Given the description of an element on the screen output the (x, y) to click on. 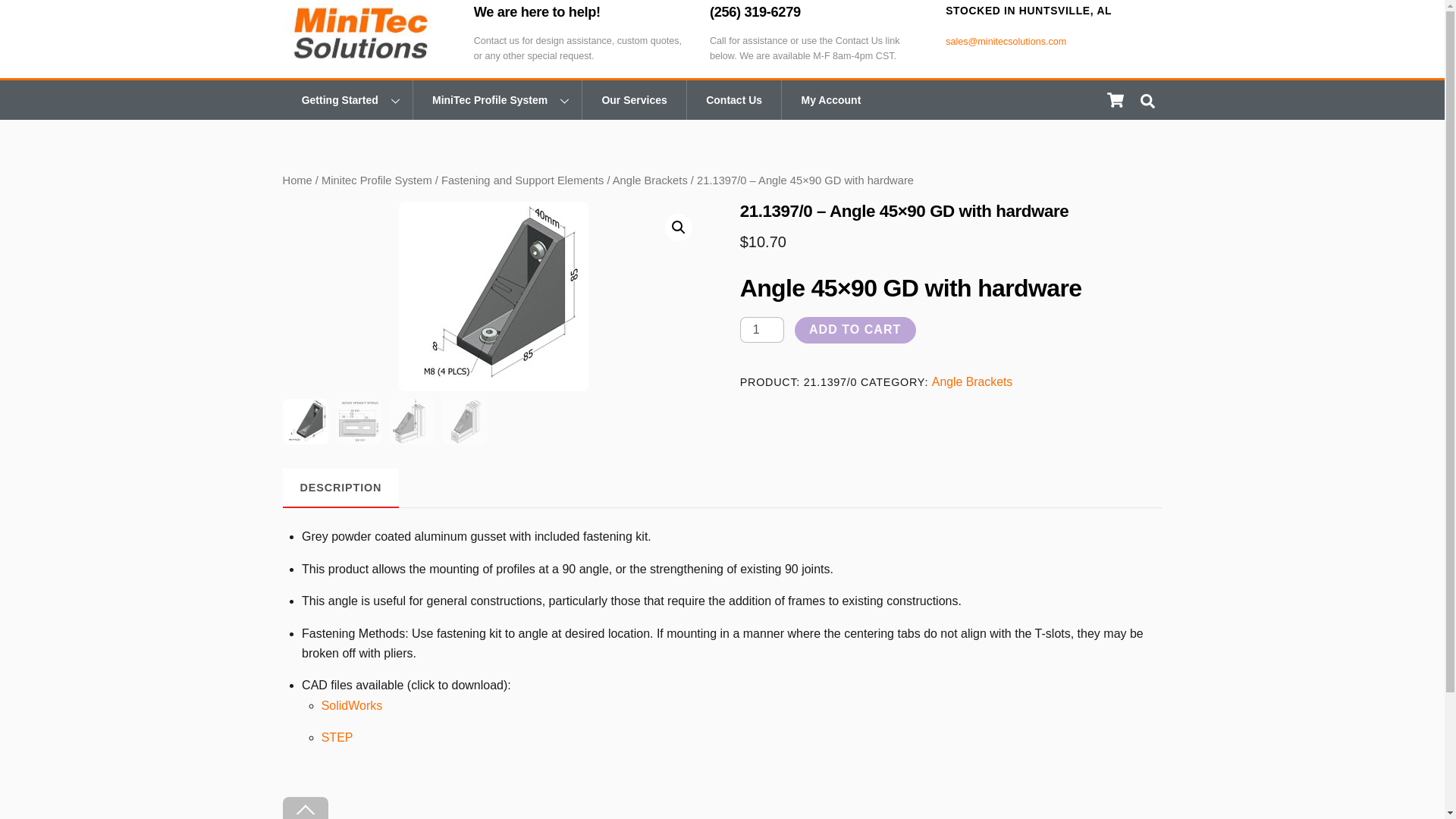
1 (761, 329)
Cart (1114, 100)
Getting Started (347, 99)
MiniTec Solutions (360, 55)
MiniTec Profile System (496, 99)
Search (1146, 100)
